Given the description of an element on the screen output the (x, y) to click on. 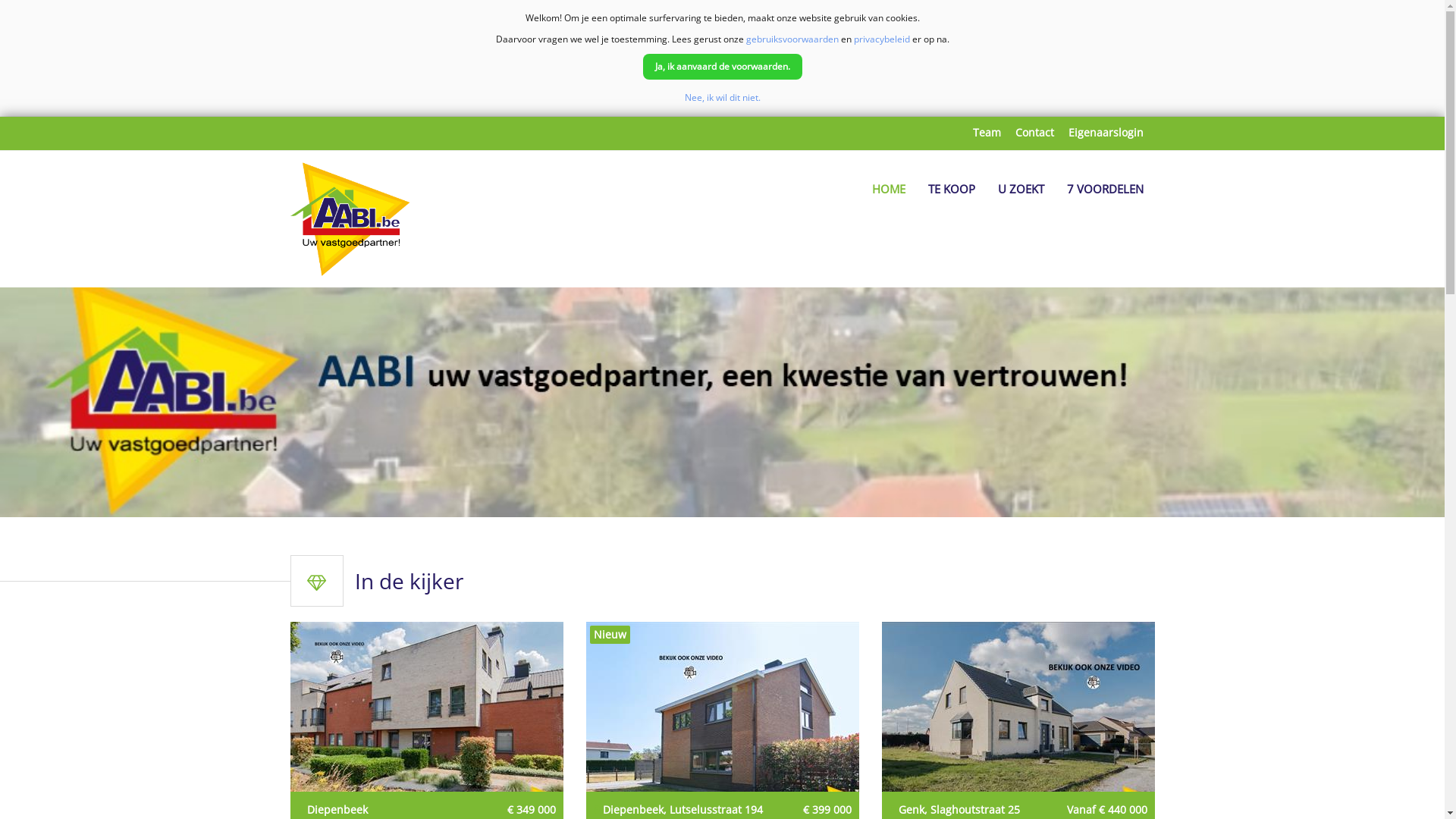
Team Element type: text (986, 133)
HOME Element type: text (887, 190)
Nee, ik wil dit niet. Element type: text (721, 97)
TE KOOP Element type: text (950, 190)
Eigenaarslogin Element type: text (1104, 133)
privacybeleid Element type: text (881, 38)
gebruiksvoorwaarden Element type: text (792, 38)
U ZOEKT Element type: text (1019, 190)
Contact Element type: text (1033, 133)
7 VOORDELEN Element type: text (1104, 190)
Ja, ik aanvaard de voorwaarden. Element type: text (722, 66)
